Given the description of an element on the screen output the (x, y) to click on. 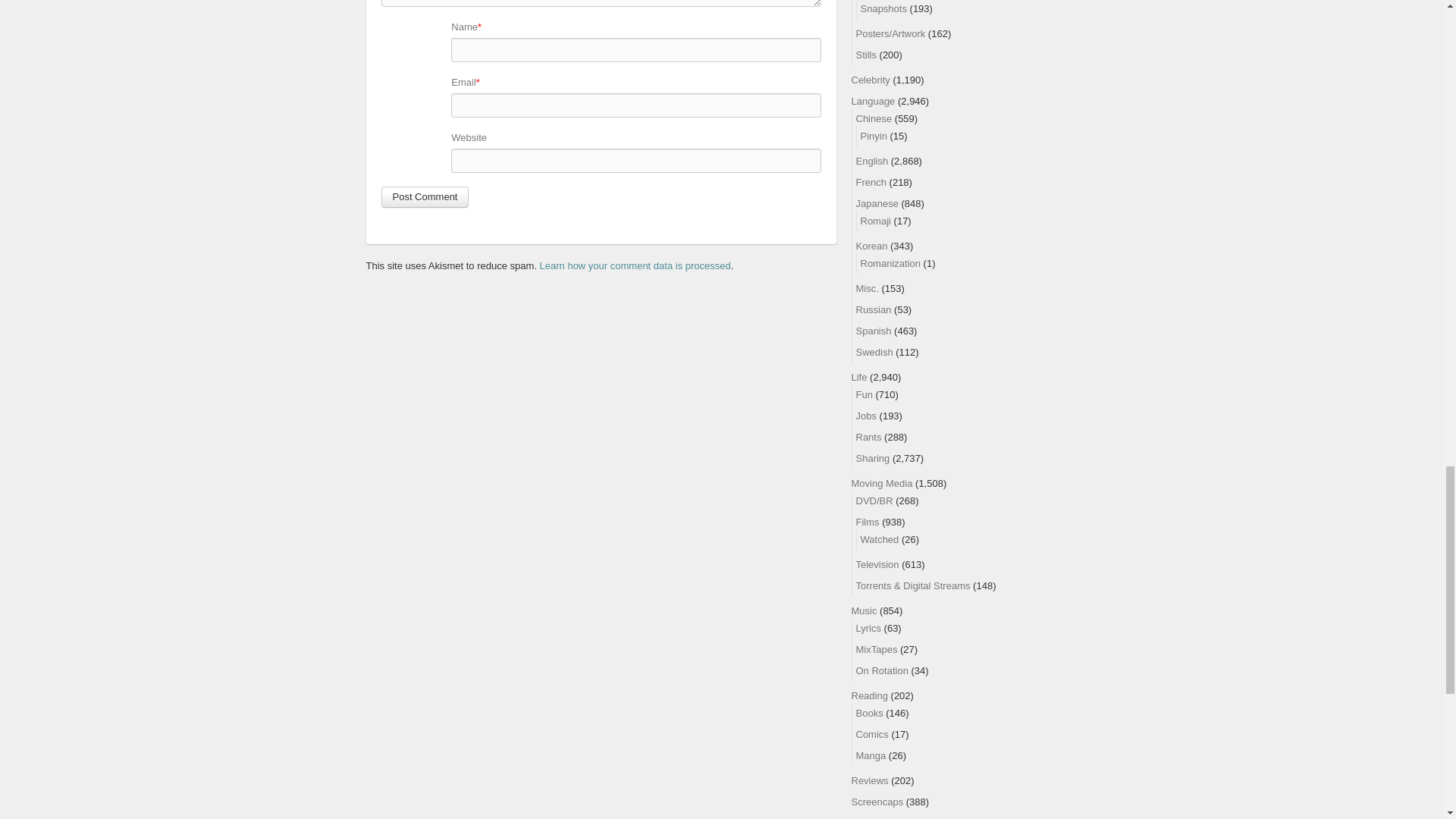
Post Comment (424, 197)
Post Comment (424, 197)
Learn how your comment data is processed (635, 265)
